Given the description of an element on the screen output the (x, y) to click on. 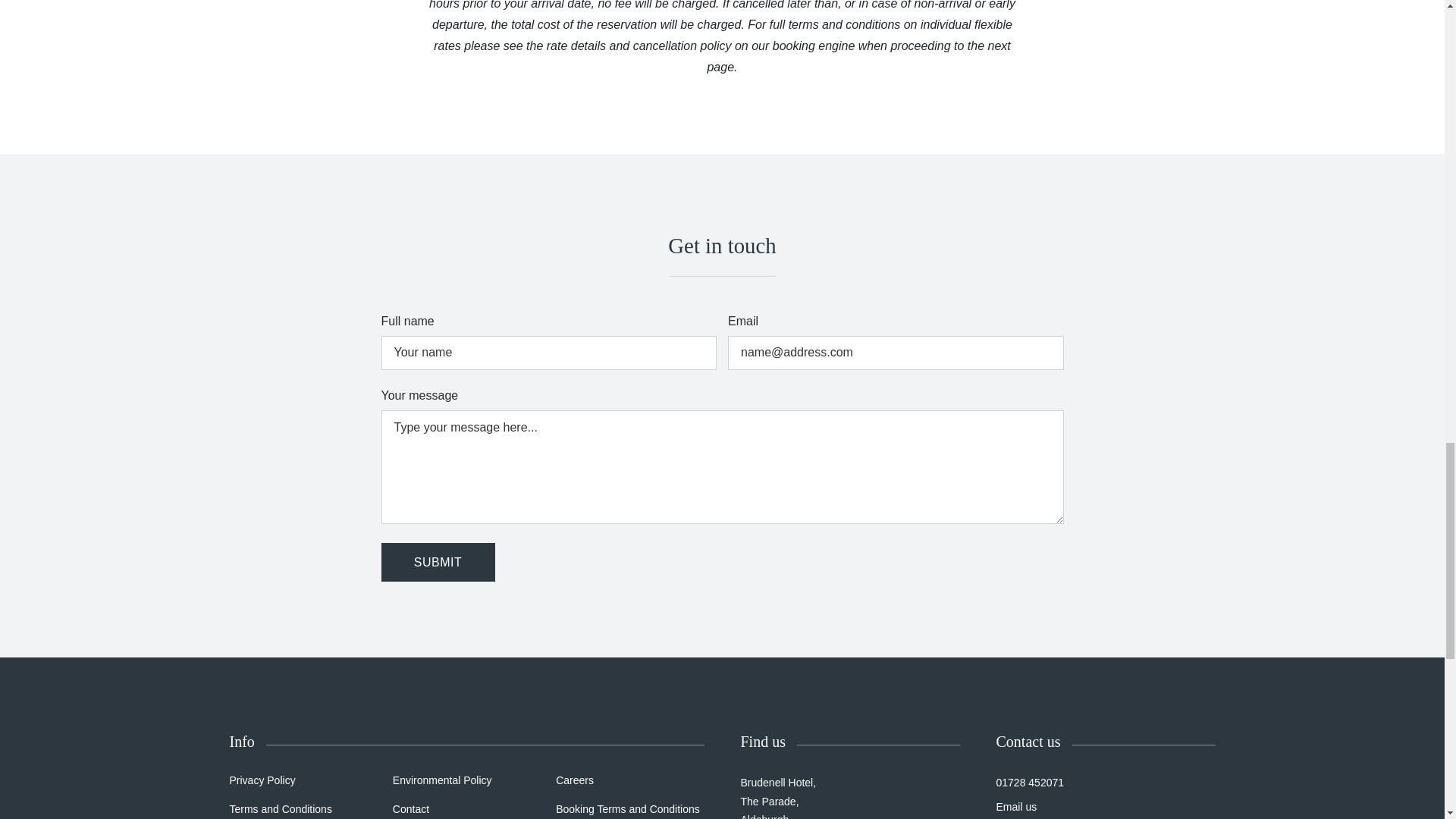
Terms and Conditions (279, 808)
Contact (411, 808)
Privacy Policy (261, 779)
01728 452071 (1029, 782)
Careers (575, 779)
Booking Terms and Conditions (628, 808)
Environmental Policy (442, 779)
SUBMIT (437, 561)
